Given the description of an element on the screen output the (x, y) to click on. 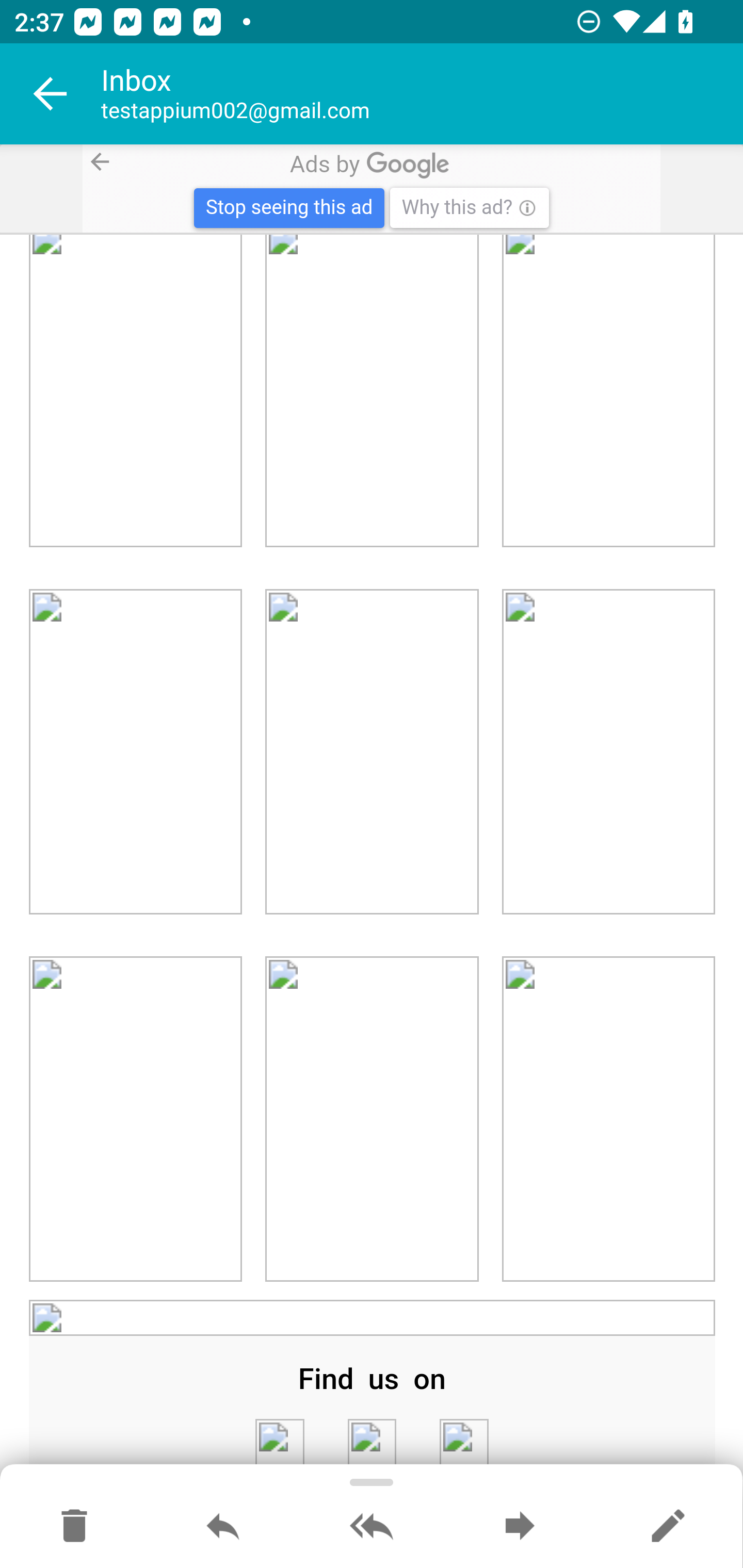
Navigate up (50, 93)
Inbox testappium002@gmail.com (422, 93)
mbs_landing_goods (135, 391)
mbs_landing_goods (371, 391)
mbs_landing_goods (608, 391)
mbs_landing_goods (135, 752)
mbs_landing_goods (371, 752)
mbs_landing_goods (608, 752)
mbs_landing_goods (135, 1118)
mbs_landing_goods (371, 1118)
mbs_landing_goods (608, 1118)
data: (372, 1318)
data: (279, 1444)
data: (371, 1444)
data: (463, 1444)
Move to Deleted (74, 1527)
Reply (222, 1527)
Reply all (371, 1527)
Forward (519, 1527)
Reply as new (667, 1527)
